Given the description of an element on the screen output the (x, y) to click on. 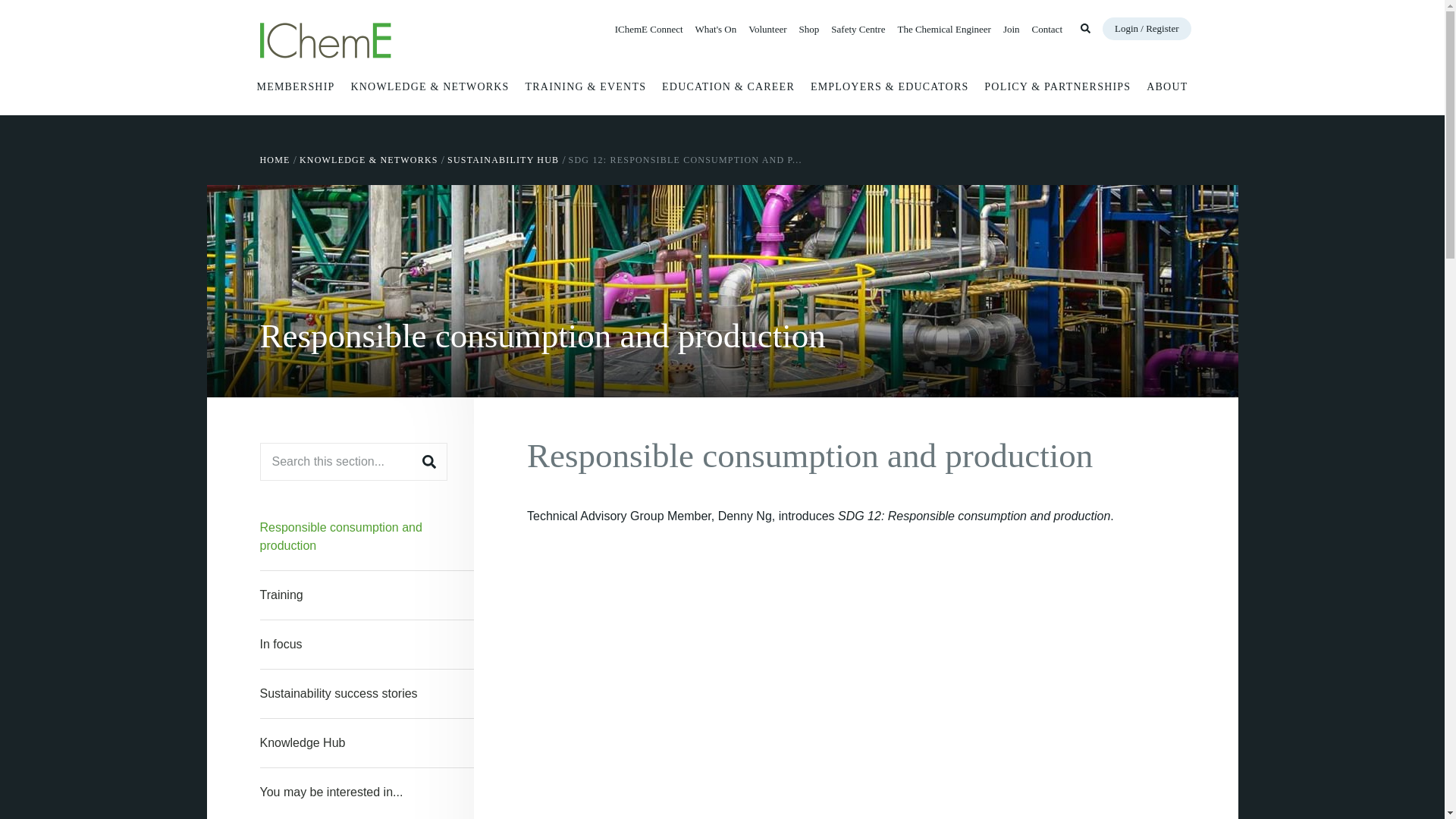
Login (1146, 28)
The Chemical Engineer (943, 29)
IChemE Connect (648, 29)
Volunteer (767, 29)
Safety Centre (858, 29)
What's On (715, 29)
